Given the description of an element on the screen output the (x, y) to click on. 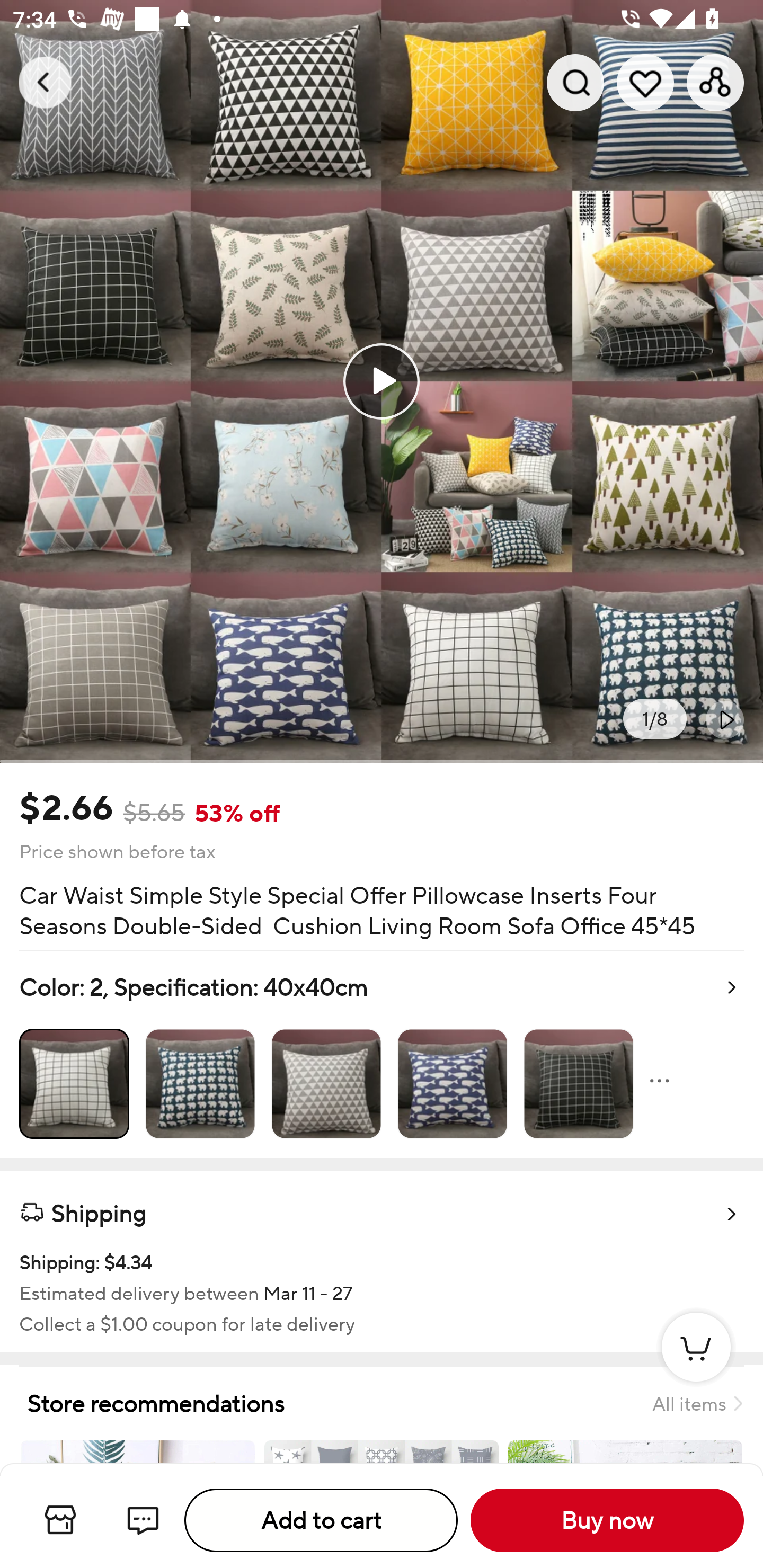
0.0 (381, 381)
Navigate up (44, 82)
 (724, 719)
Color: 2, Specification: 40x40cm  (381, 1054)
All items (697, 1403)
Add to cart (320, 1520)
Buy now (606, 1520)
